Given the description of an element on the screen output the (x, y) to click on. 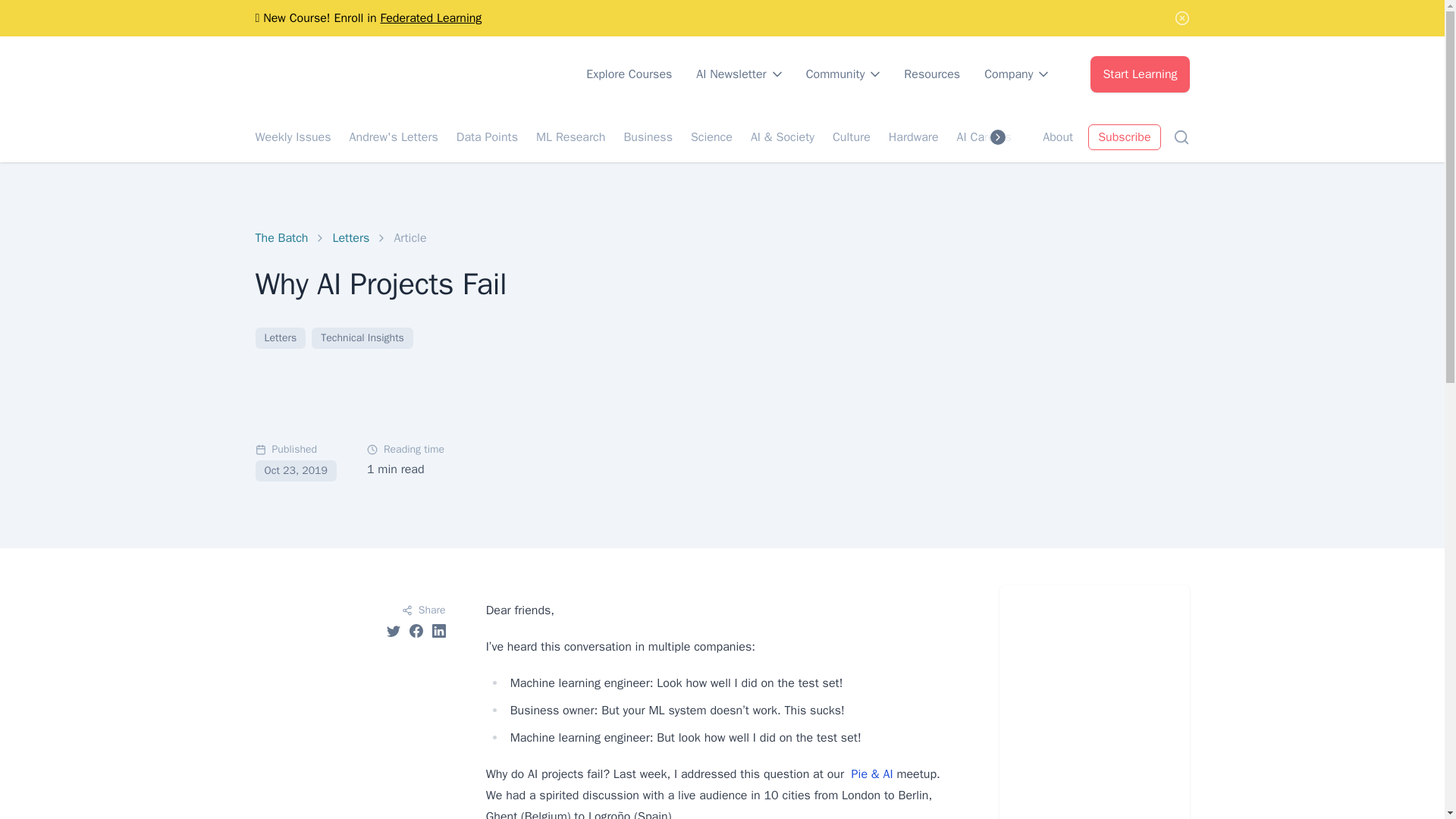
ML Research (570, 137)
Community (842, 74)
Letters (350, 238)
Andrew's Letters (393, 137)
Business (647, 137)
Data Points (487, 137)
Subscribe (1123, 136)
The Batch (280, 238)
AI Newsletter (738, 74)
AI Careers (983, 137)
Article (409, 238)
Explore Courses (628, 74)
Start Learning (1139, 74)
Search (1180, 136)
Hardware (913, 137)
